Given the description of an element on the screen output the (x, y) to click on. 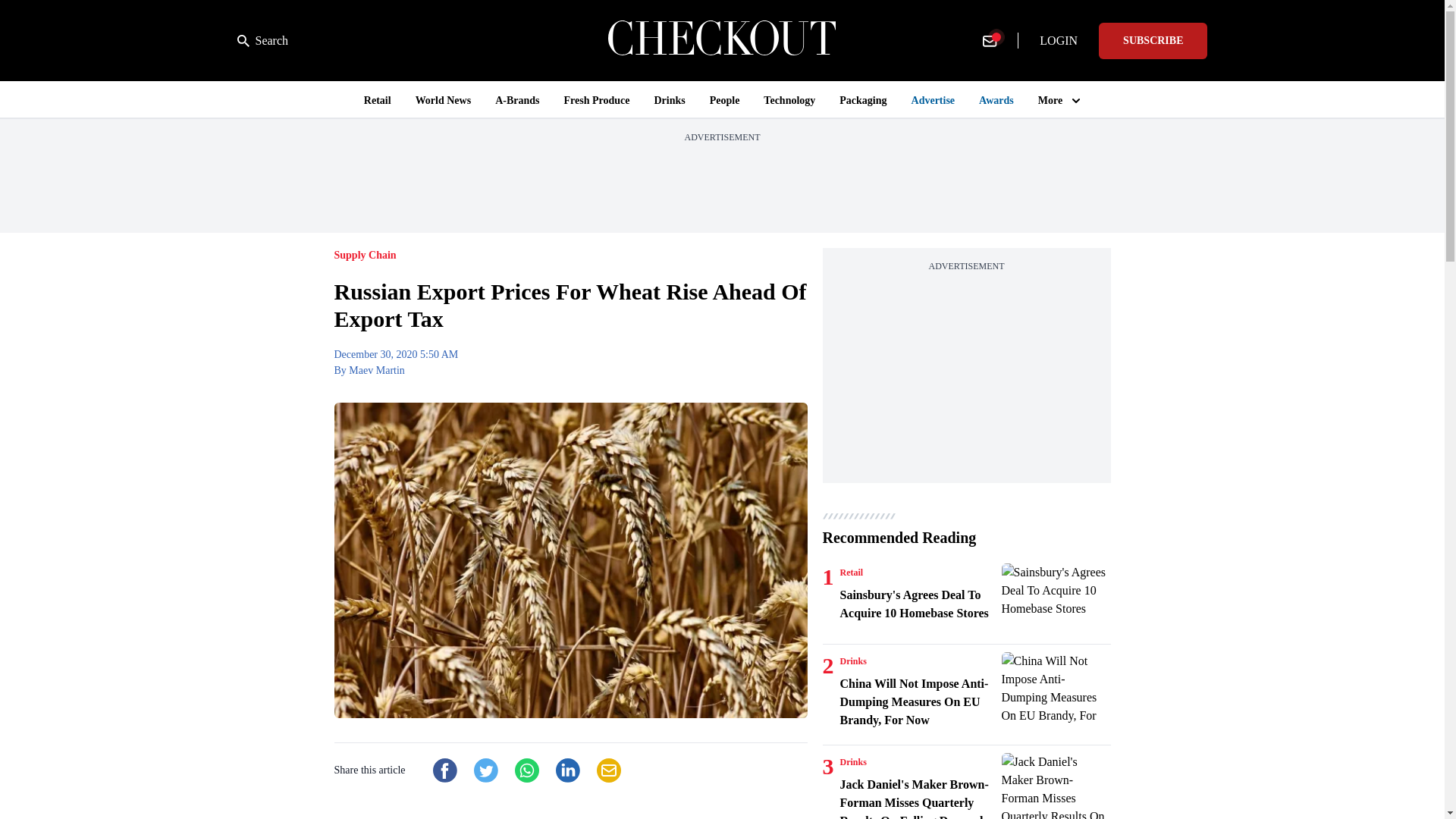
Drinks (853, 661)
LOGIN (1058, 40)
Drinks (853, 761)
Retail (851, 572)
Sainsbury's Agrees Deal To Acquire 10 Homebase Stores (1055, 599)
Sainsbury's Agrees Deal To Acquire 10 Homebase Stores (917, 604)
Checkout (721, 40)
